Given the description of an element on the screen output the (x, y) to click on. 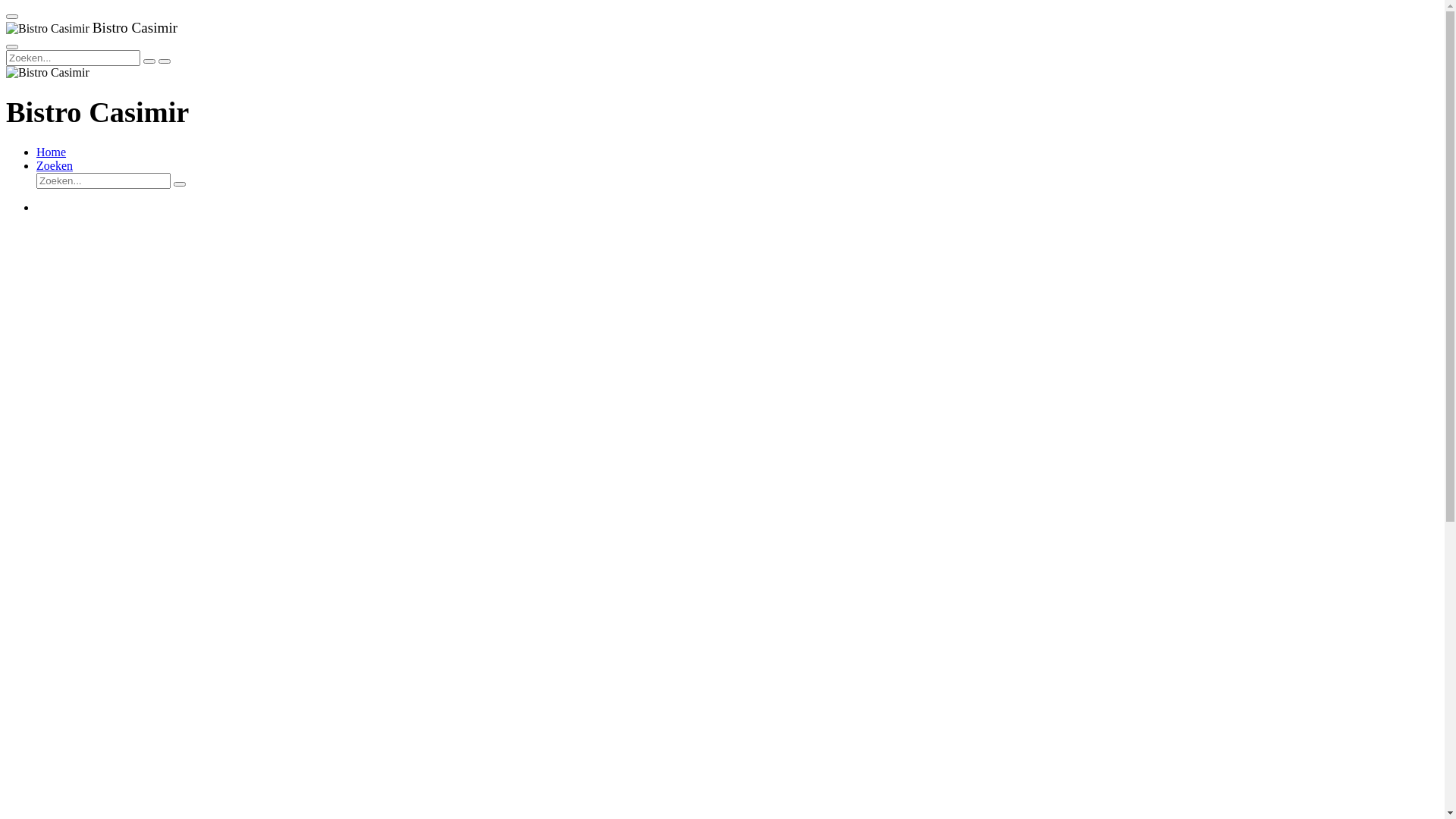
Bistro Casimir Element type: hover (47, 72)
Bistro Casimir Element type: hover (47, 28)
Home Element type: text (50, 151)
Zoeken Element type: text (54, 165)
